Given the description of an element on the screen output the (x, y) to click on. 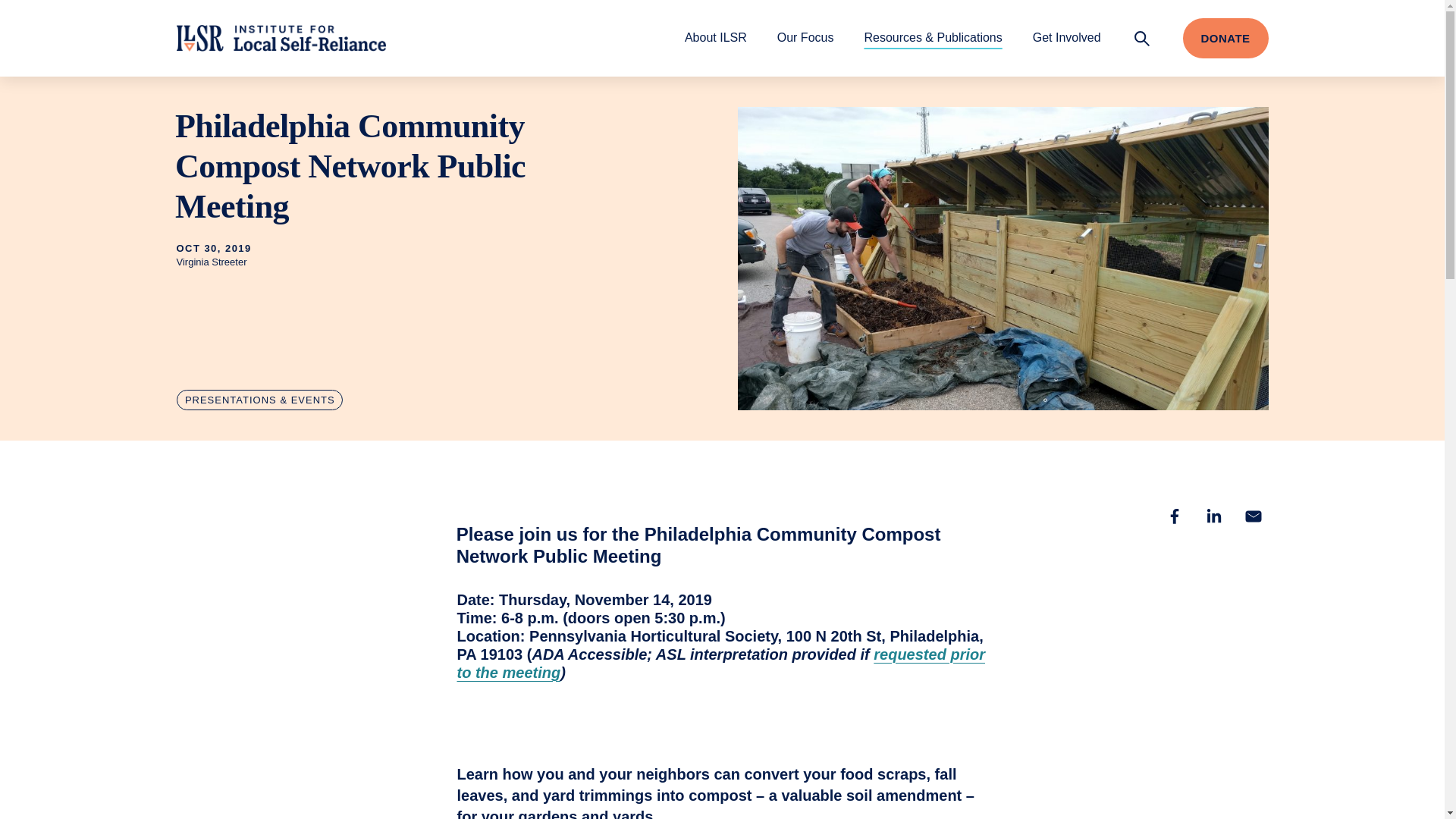
Our Focus (805, 37)
About ILSR (715, 37)
requested prior to the meeting (720, 663)
LINKEDIN (1213, 516)
ILSR (280, 38)
Get Involved (1066, 37)
FACEBOOK (1173, 516)
DONATE (1225, 38)
EMAIL (1252, 516)
